Given the description of an element on the screen output the (x, y) to click on. 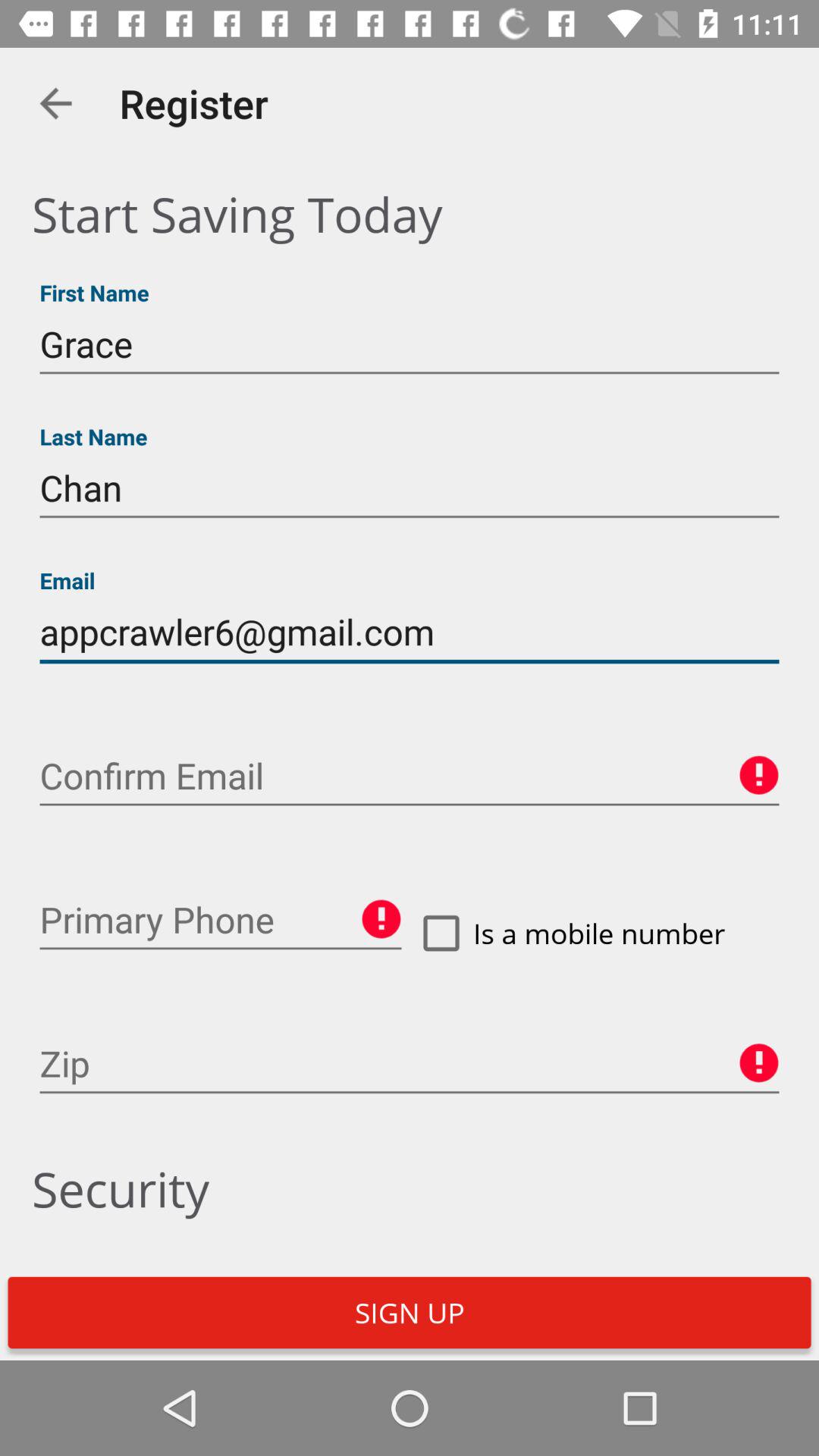
confirm email (409, 776)
